Given the description of an element on the screen output the (x, y) to click on. 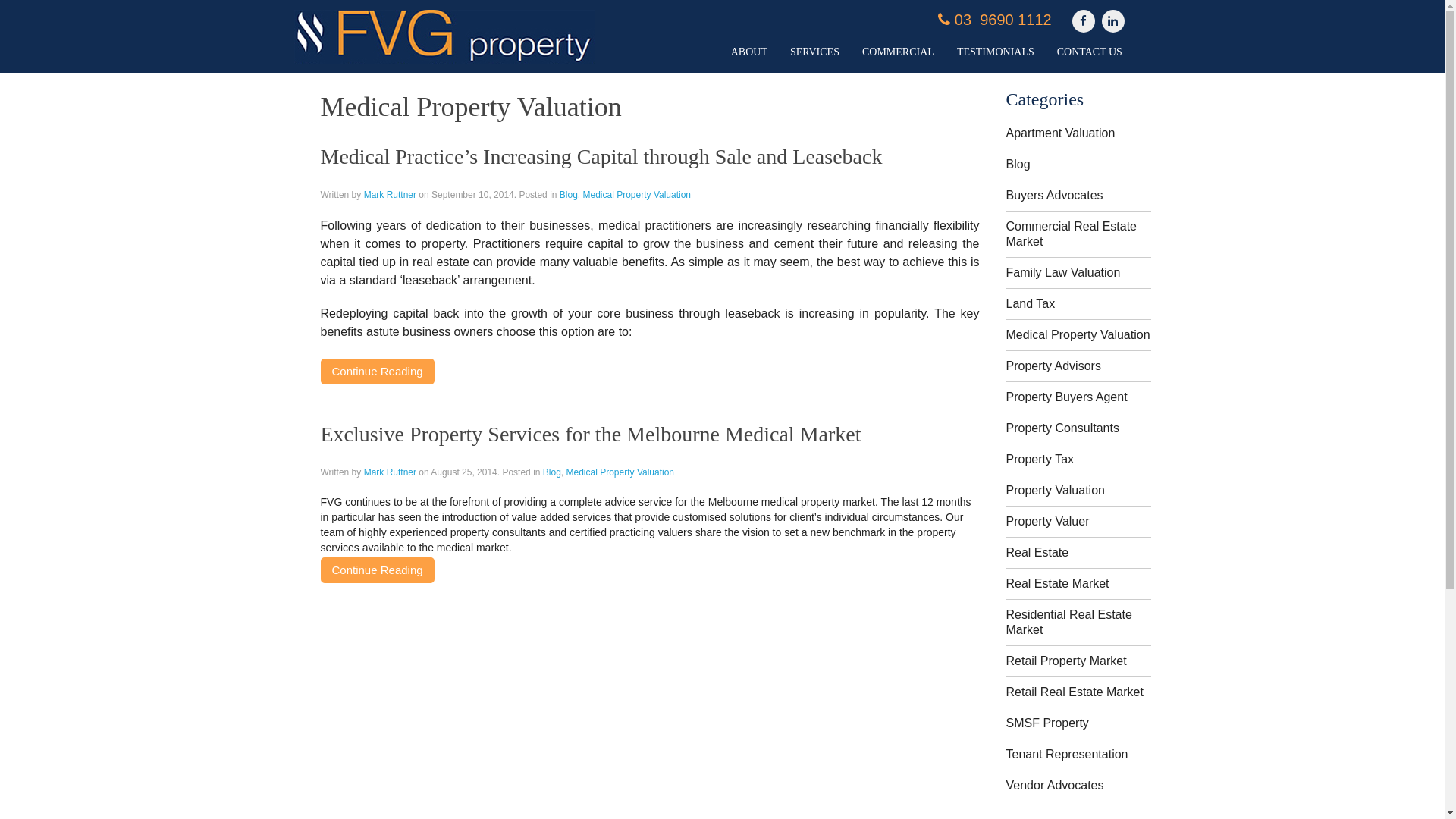
Continue Reading Element type: text (376, 570)
Property Valuer Element type: text (1046, 520)
Tenant Representation Element type: text (1066, 753)
Blog Element type: text (551, 472)
Continue Reading Element type: text (376, 371)
Real Estate Market Element type: text (1056, 583)
FVG Property Consultants and Valuers Melbourne Element type: hover (444, 36)
COMMERCIAL Element type: text (897, 51)
Buyers Advocates Element type: text (1053, 194)
Commercial Real Estate Market Element type: text (1070, 233)
Property Valuation Element type: text (1054, 489)
Family Law Valuation Element type: text (1062, 272)
SMSF Property Element type: text (1046, 722)
Property Advisors Element type: text (1052, 365)
Retail Property Market Element type: text (1065, 660)
Mark Ruttner Element type: text (390, 194)
Medical Property Valuation Element type: text (1077, 334)
CONTACT US Element type: text (1089, 51)
Vendor Advocates Element type: text (1054, 784)
Blog Element type: text (1017, 163)
Retail Real Estate Market Element type: text (1073, 691)
Apartment Valuation Element type: text (1059, 132)
Real Estate Element type: text (1036, 552)
TESTIMONIALS Element type: text (995, 51)
Land Tax Element type: text (1029, 303)
Property Tax Element type: text (1039, 458)
Mark Ruttner Element type: text (390, 472)
Property Consultants Element type: text (1061, 427)
Residential Real Estate Market Element type: text (1068, 622)
Exclusive Property Services for the Melbourne Medical Market Element type: text (590, 433)
Property Buyers Agent Element type: text (1065, 396)
Blog Element type: text (568, 194)
Medical Property Valuation Element type: text (620, 472)
SERVICES Element type: text (814, 51)
Medical Property Valuation Element type: text (637, 194)
ABOUT Element type: text (748, 51)
